Given the description of an element on the screen output the (x, y) to click on. 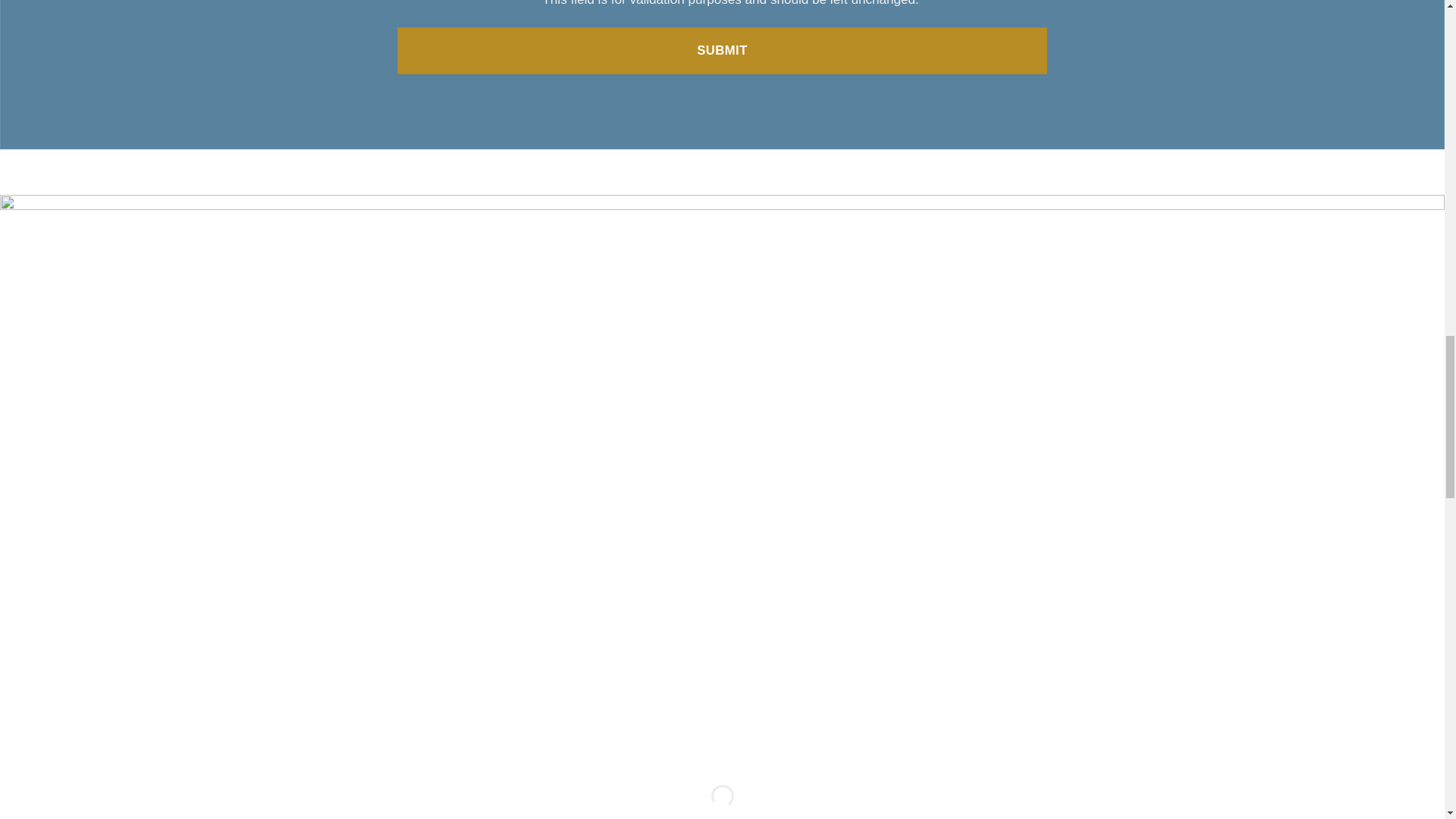
Submit (721, 50)
Submit (721, 50)
